Given the description of an element on the screen output the (x, y) to click on. 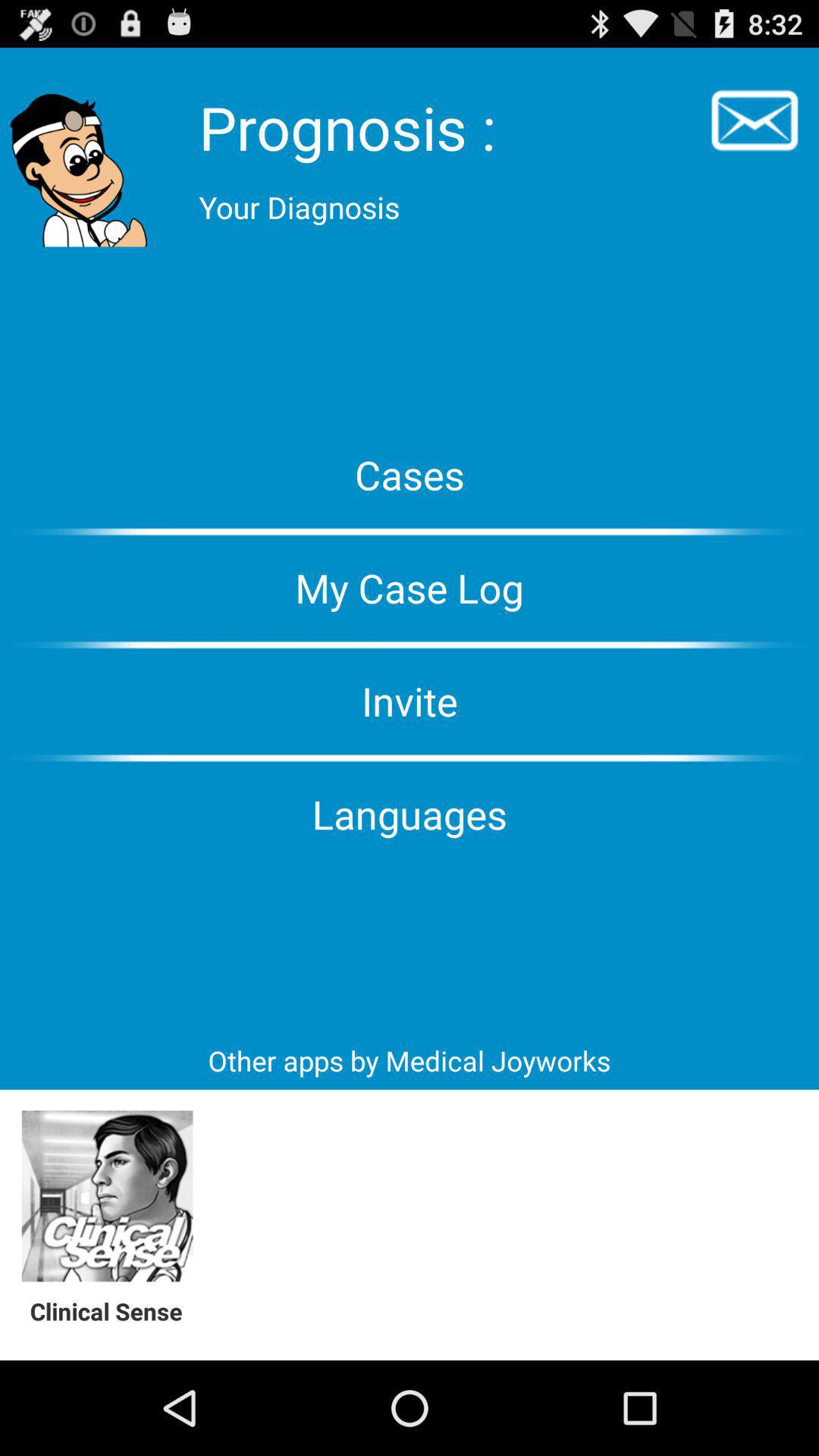
press the cases button (409, 474)
